Given the description of an element on the screen output the (x, y) to click on. 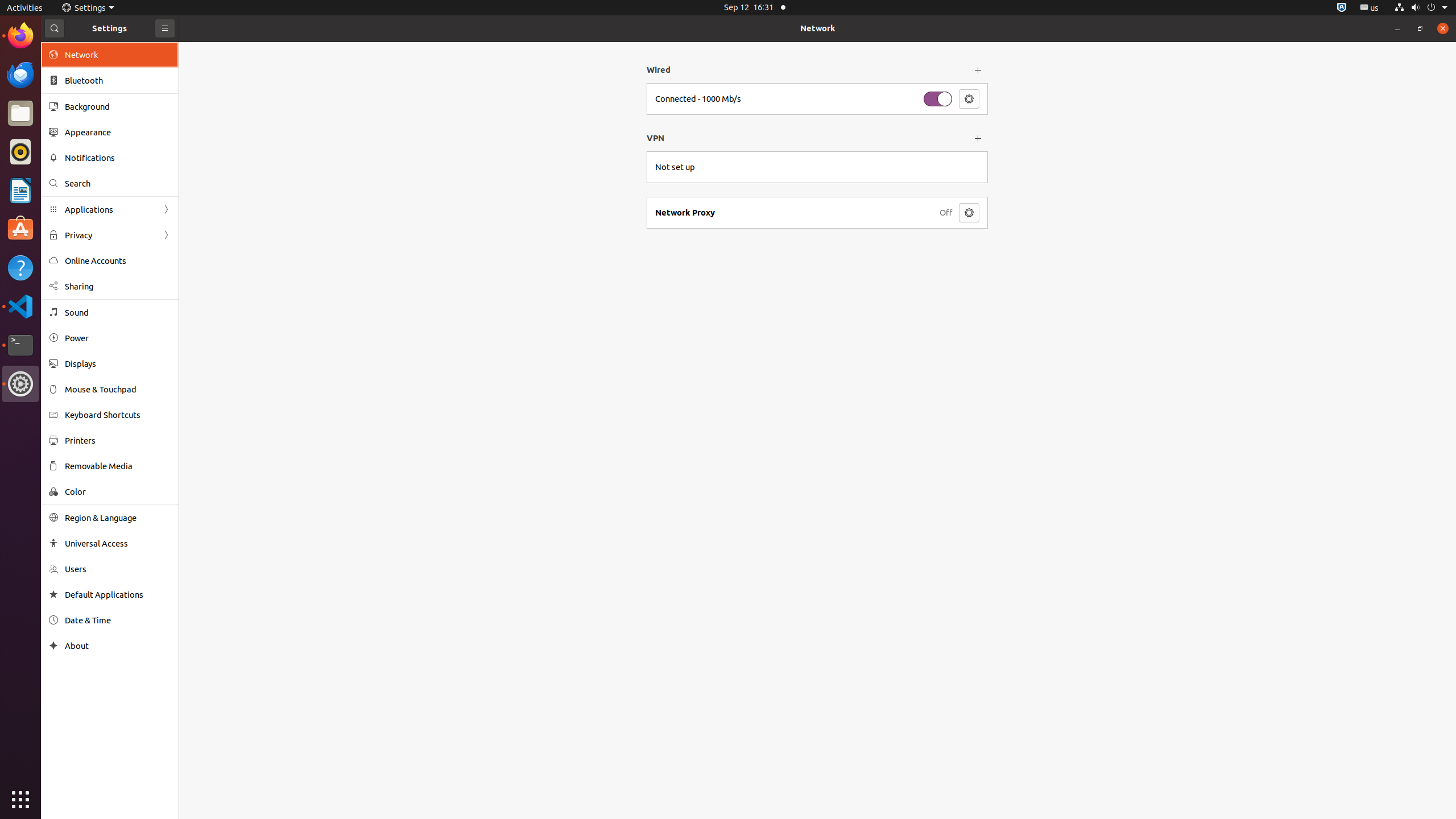
Removable Media Element type: label (117, 465)
Displays Element type: label (117, 363)
Network Element type: label (817, 27)
